Given the description of an element on the screen output the (x, y) to click on. 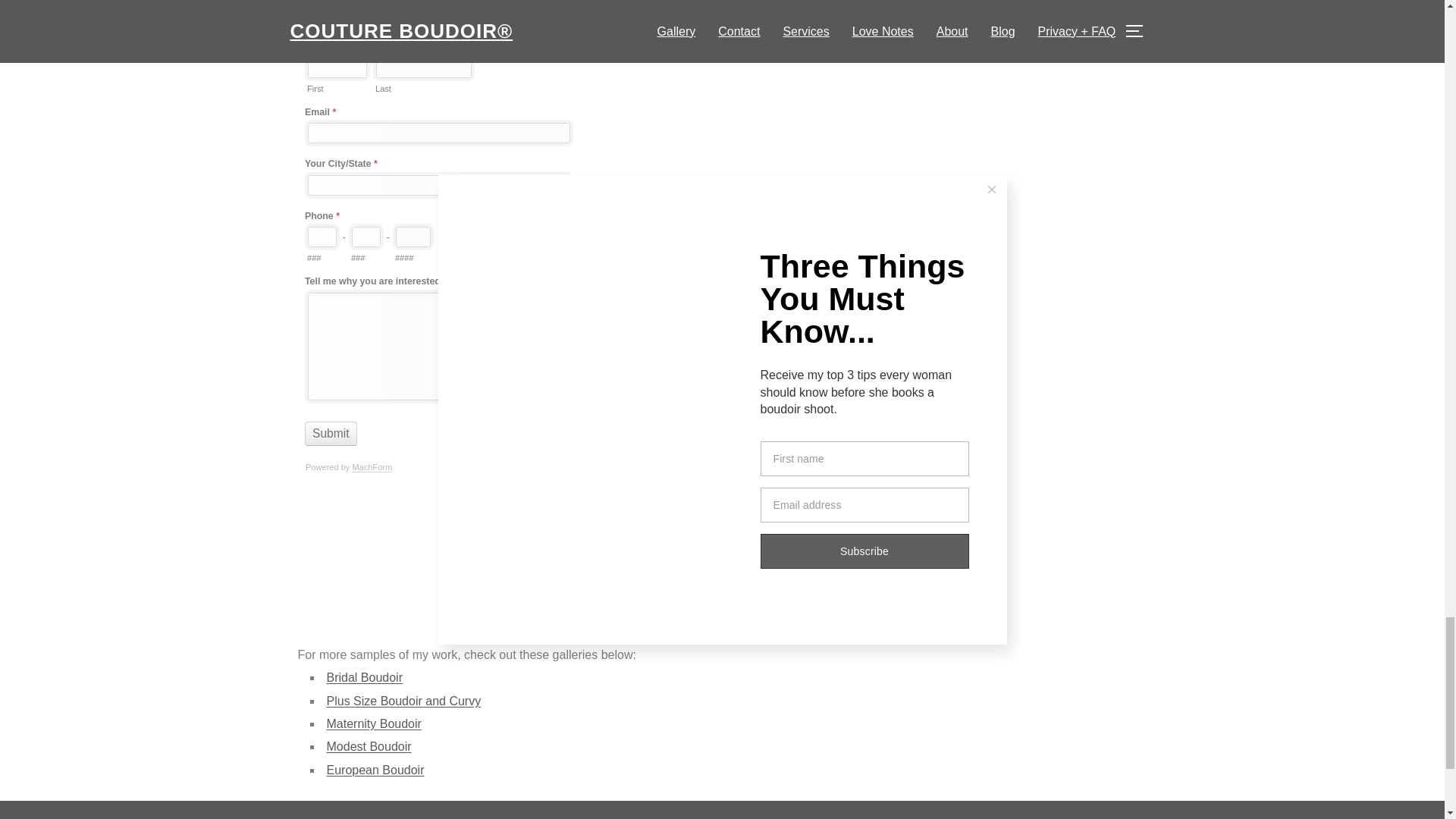
Maternity Boudoir (373, 723)
European Boudoir (374, 769)
Bridal Boudoir (364, 676)
Modest Boudoir (368, 746)
Plus Size Boudoir and Curvy (403, 700)
